Given the description of an element on the screen output the (x, y) to click on. 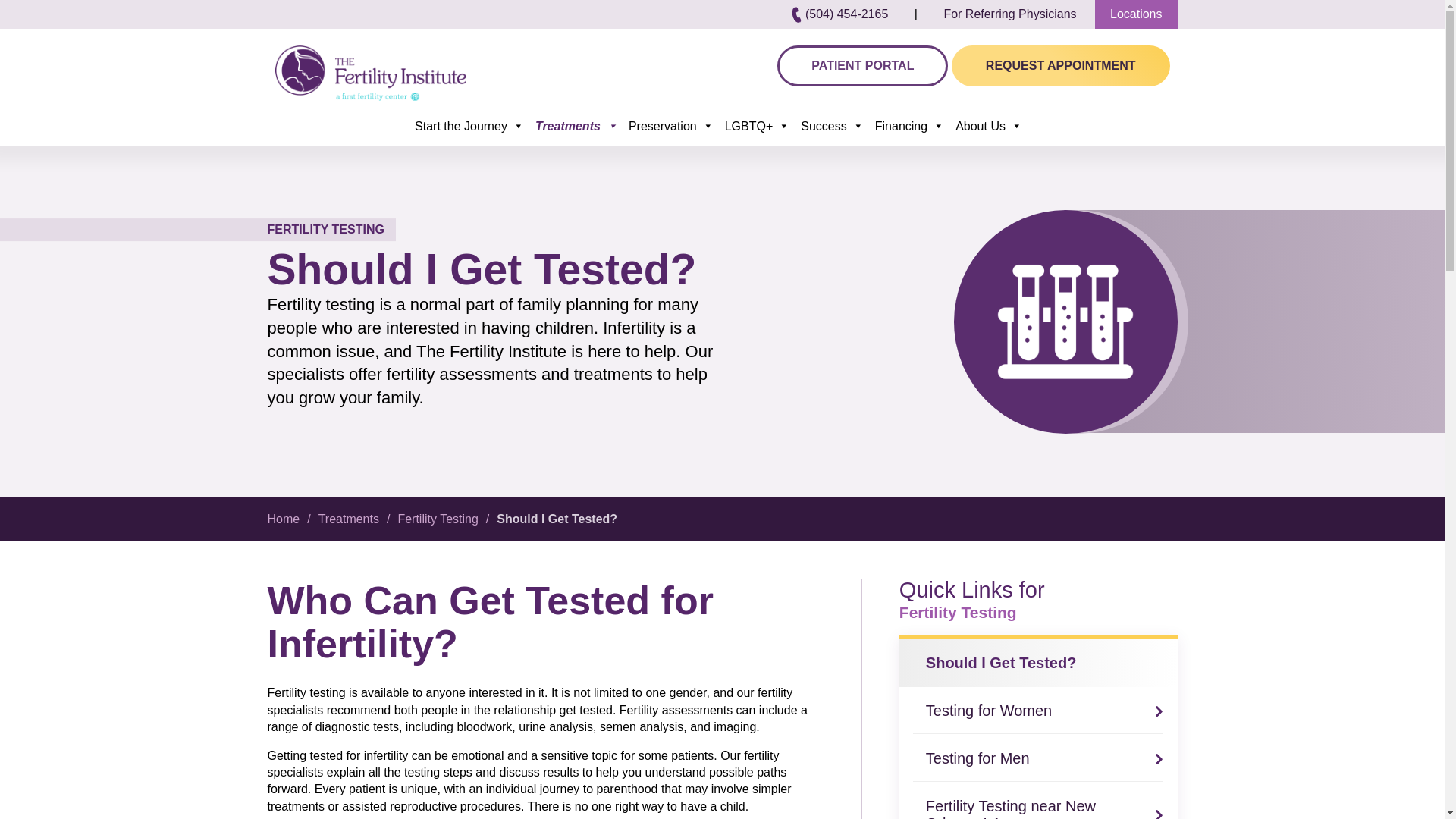
Treatments (577, 126)
Start the Journey (470, 126)
For Referring Physicians (1009, 13)
PATIENT PORTAL (862, 65)
REQUEST APPOINTMENT (1061, 65)
Locations (1135, 14)
